Given the description of an element on the screen output the (x, y) to click on. 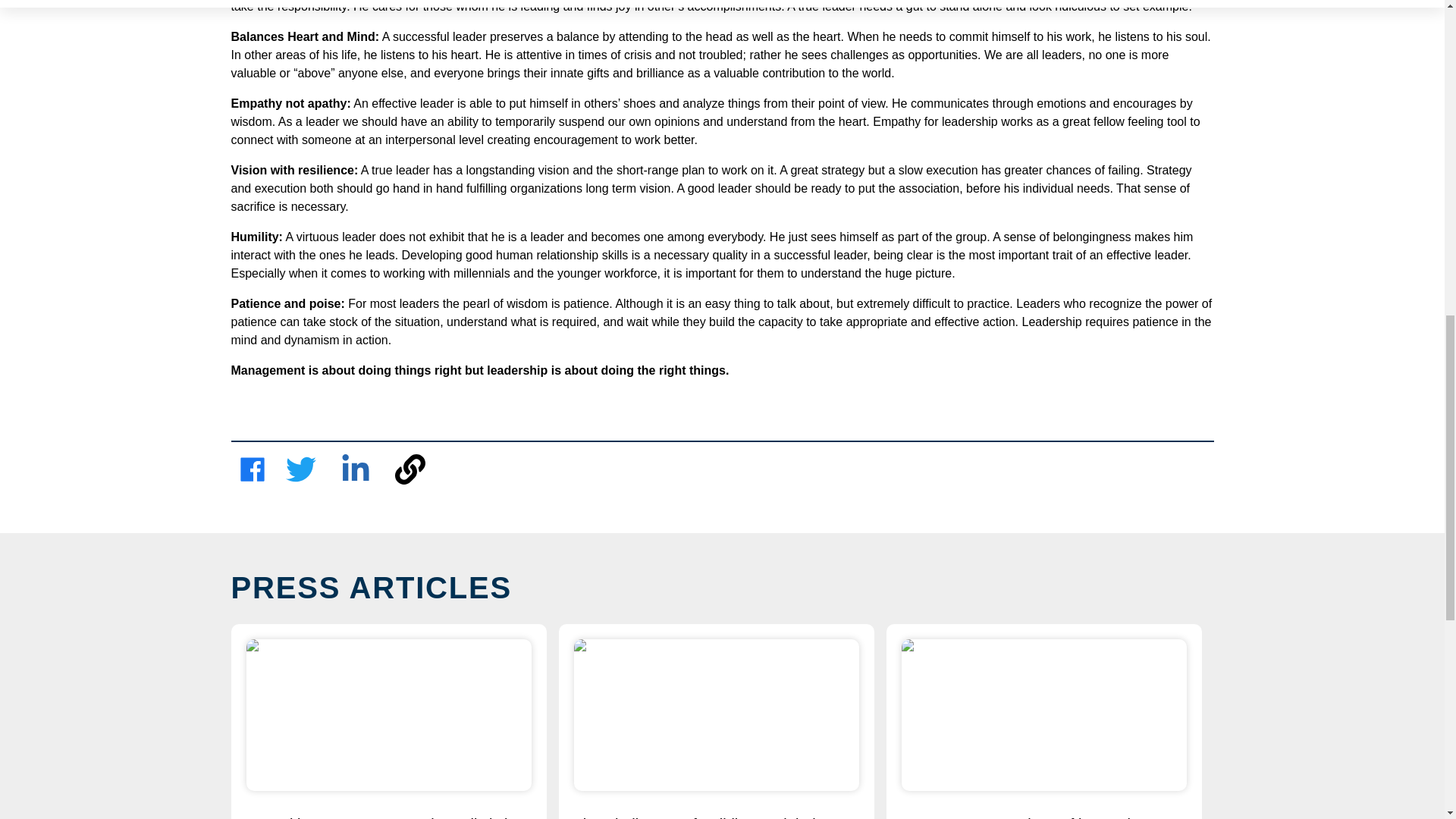
Is Working 70 Hours a Week Realistic in India? (388, 816)
How to create a culture of innovation (1043, 816)
The Challenges of Building a Global Team (716, 816)
Previous (238, 787)
